Given the description of an element on the screen output the (x, y) to click on. 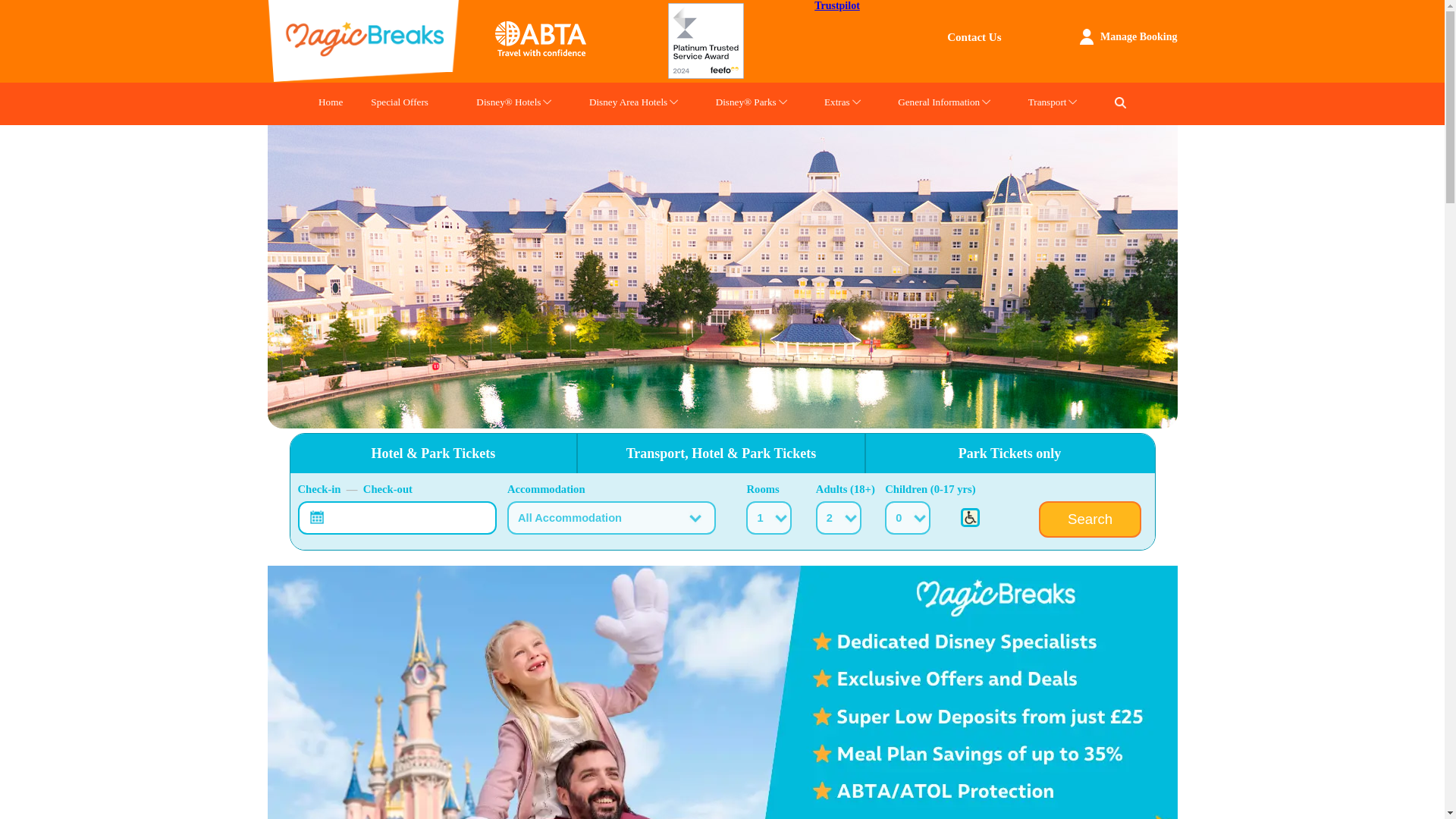
Trustpilot (836, 5)
Disney Area Hotels (627, 103)
Please contact us on 0330 880 5001 (969, 517)
Search (1089, 519)
search (1120, 102)
Special Offers (399, 103)
Manage Booking (1138, 36)
Contact Us (974, 37)
